Given the description of an element on the screen output the (x, y) to click on. 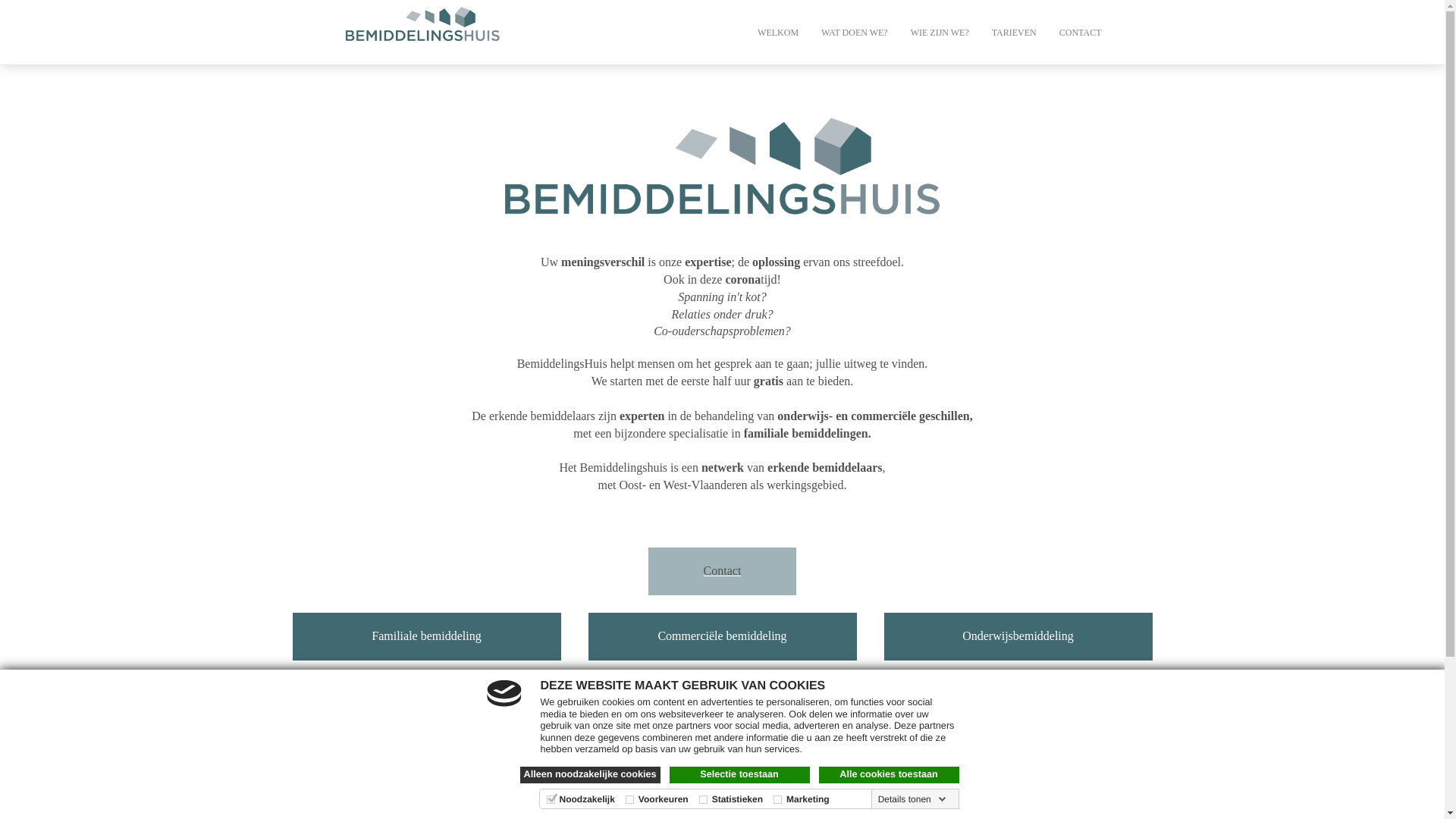
Contact Element type: text (722, 570)
WAT DOEN WE? Element type: text (854, 32)
TARIEVEN Element type: text (1014, 32)
Selectie toestaan Element type: text (738, 774)
Alle cookies toestaan Element type: text (889, 774)
Onderwijsbemiddeling Element type: text (1017, 636)
Logo bemiddingshuis Element type: hover (722, 170)
Details tonen Element type: text (912, 799)
CONTACT Element type: text (1080, 32)
Familiale bemiddeling Element type: text (425, 636)
Alleen noodzakelijke cookies Element type: text (590, 774)
WIE ZIJN WE? Element type: text (939, 32)
WELKOM Element type: text (777, 32)
